Given the description of an element on the screen output the (x, y) to click on. 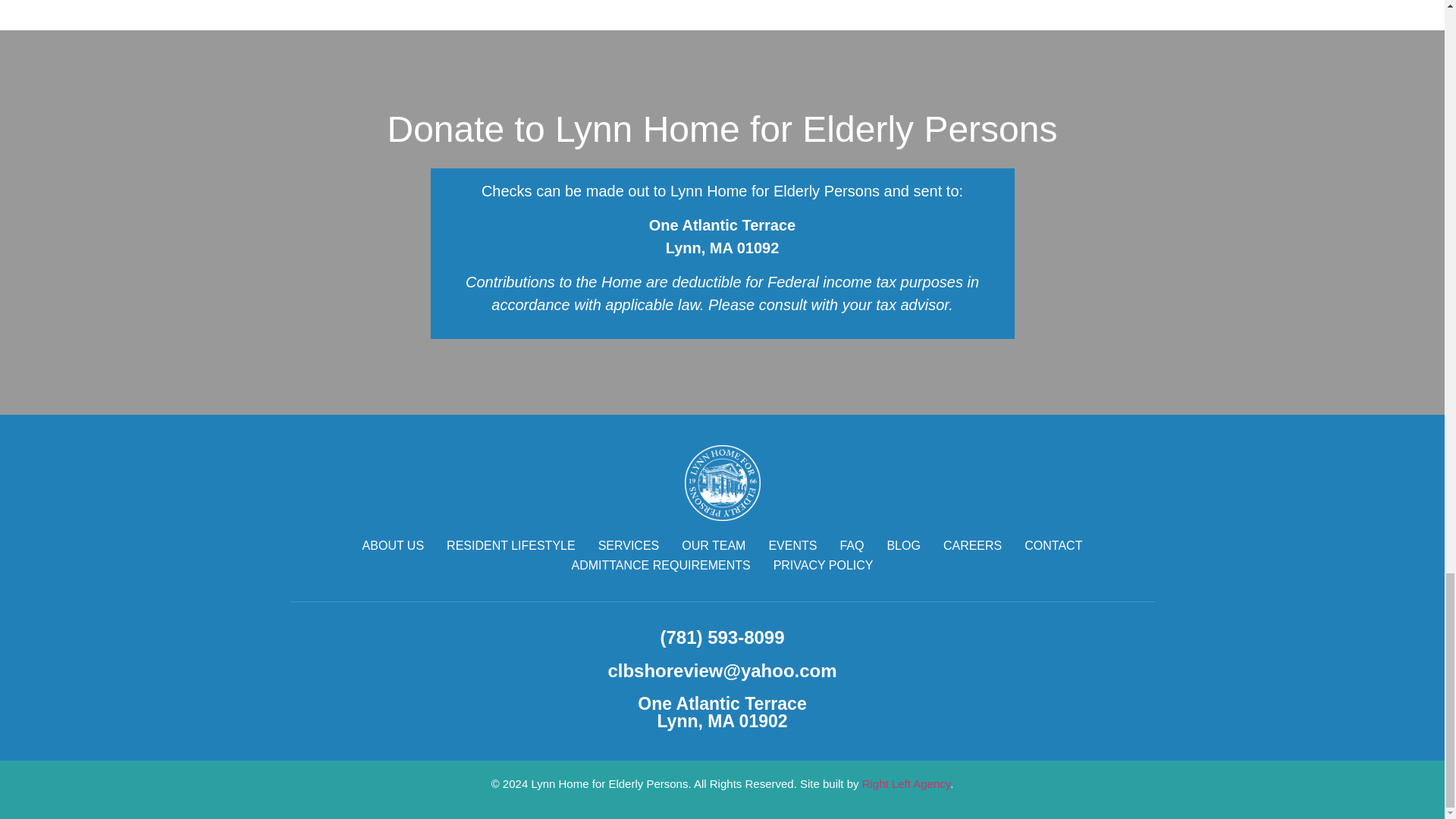
FAQ (851, 546)
ABOUT US (393, 546)
CAREERS (972, 546)
BLOG (903, 546)
EVENTS (792, 546)
SERVICES (628, 546)
RESIDENT LIFESTYLE (510, 546)
OUR TEAM (713, 546)
